Given the description of an element on the screen output the (x, y) to click on. 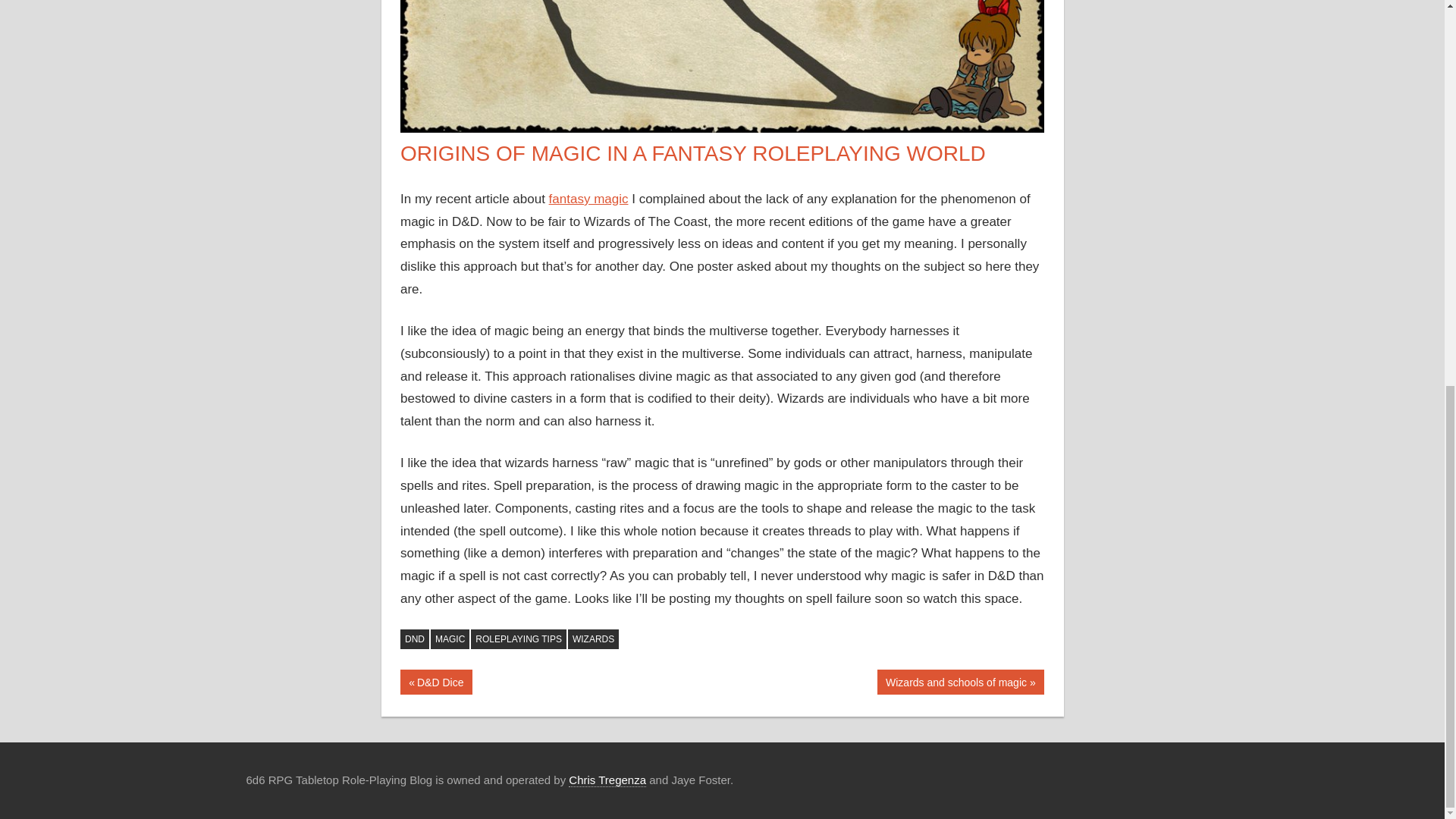
fantasy magic (588, 198)
Chris Tregenza (607, 780)
ROLEPLAYING TIPS (518, 639)
DND (414, 639)
MAGIC (449, 639)
WIZARDS (960, 681)
